Given the description of an element on the screen output the (x, y) to click on. 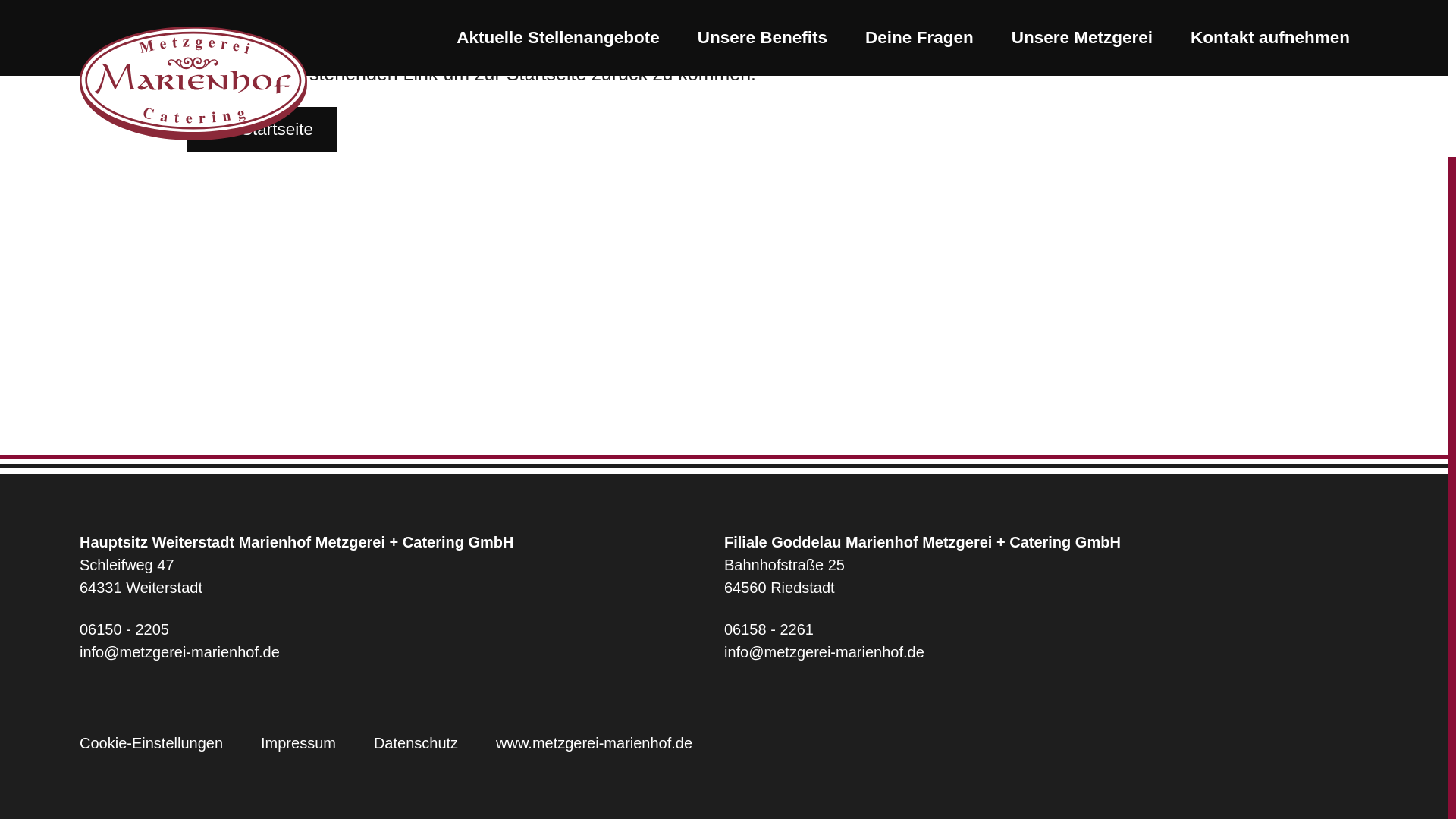
Jetzt anrufen (371, 654)
Jetzt anrufen (1045, 629)
Jetzt anrufen (401, 629)
Jetzt bewerben (611, 654)
E-Mail schreiben (1045, 651)
Zum Bewerbungsformular (892, 654)
Datenschutz (416, 743)
Impressum (298, 743)
06150 - 22 05 (371, 654)
www.metzgerei-marienhof.de (594, 743)
